Given the description of an element on the screen output the (x, y) to click on. 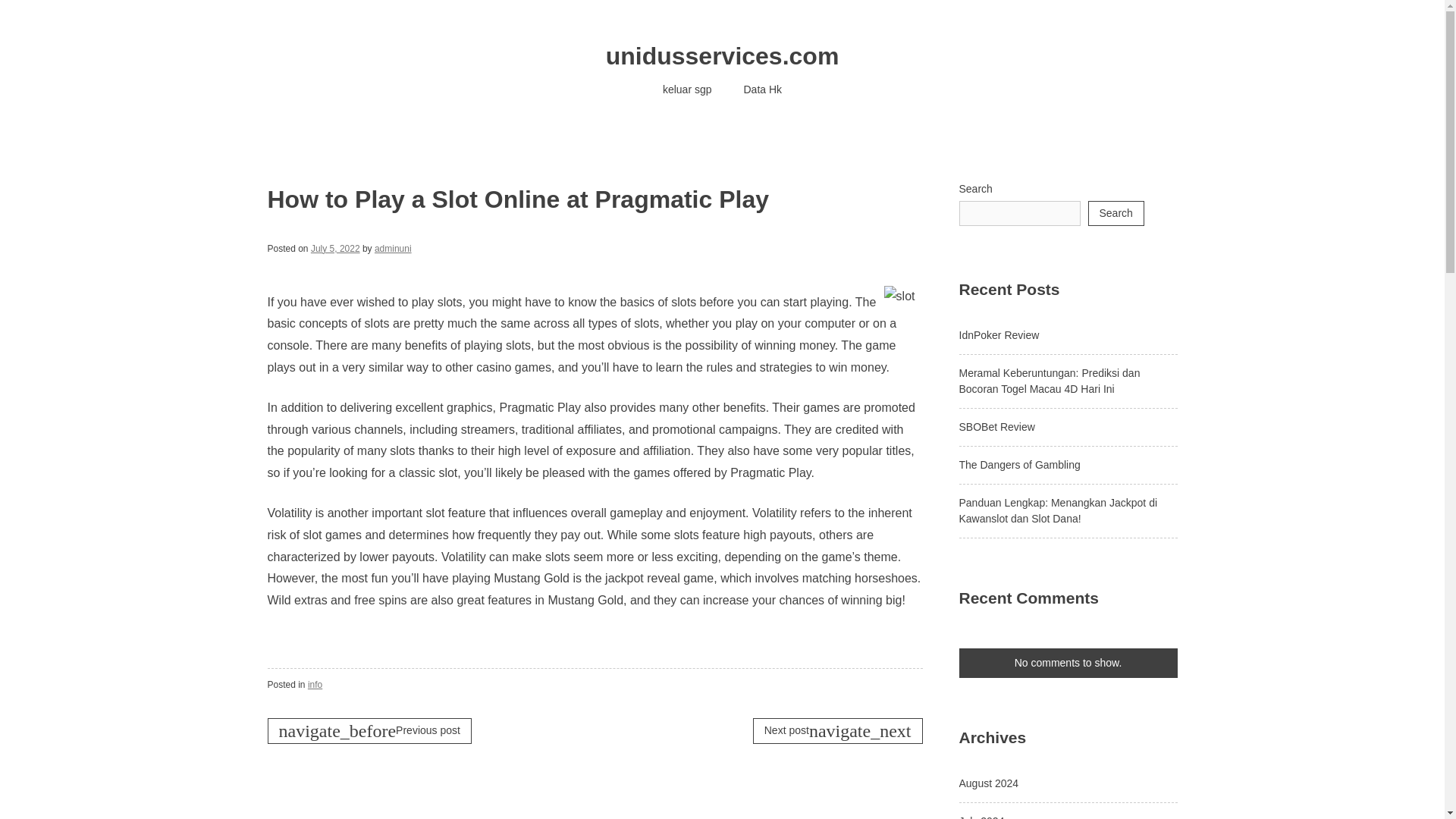
unidusservices.com (722, 55)
keluar sgp (687, 89)
SBOBet Review (995, 426)
Data Hk (762, 89)
August 2024 (987, 783)
July 2024 (981, 816)
July 5, 2022 (335, 248)
adminuni (393, 248)
Search (1114, 213)
The Dangers of Gambling (1019, 464)
